Given the description of an element on the screen output the (x, y) to click on. 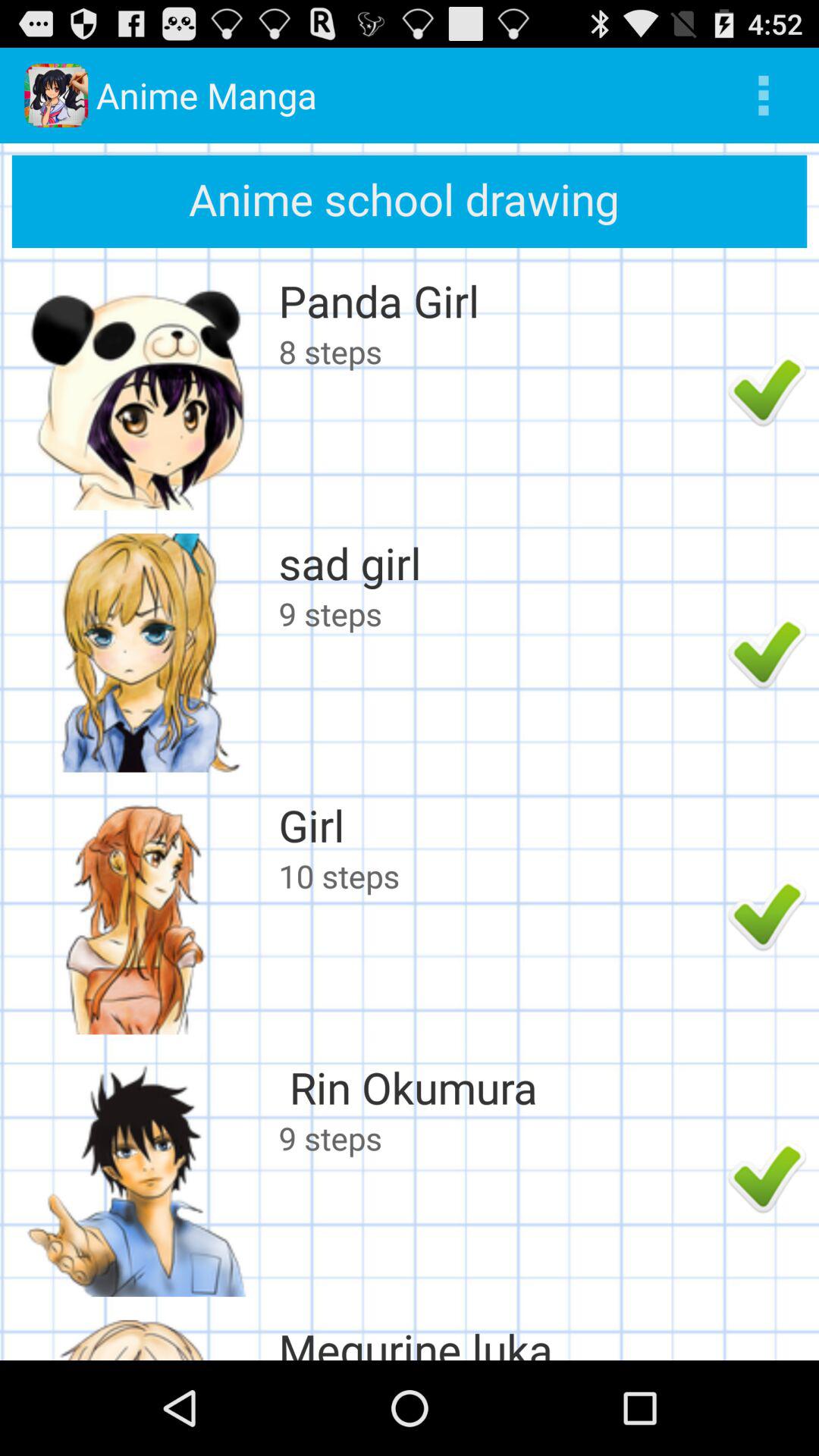
flip until the  rin okumura (498, 1086)
